Given the description of an element on the screen output the (x, y) to click on. 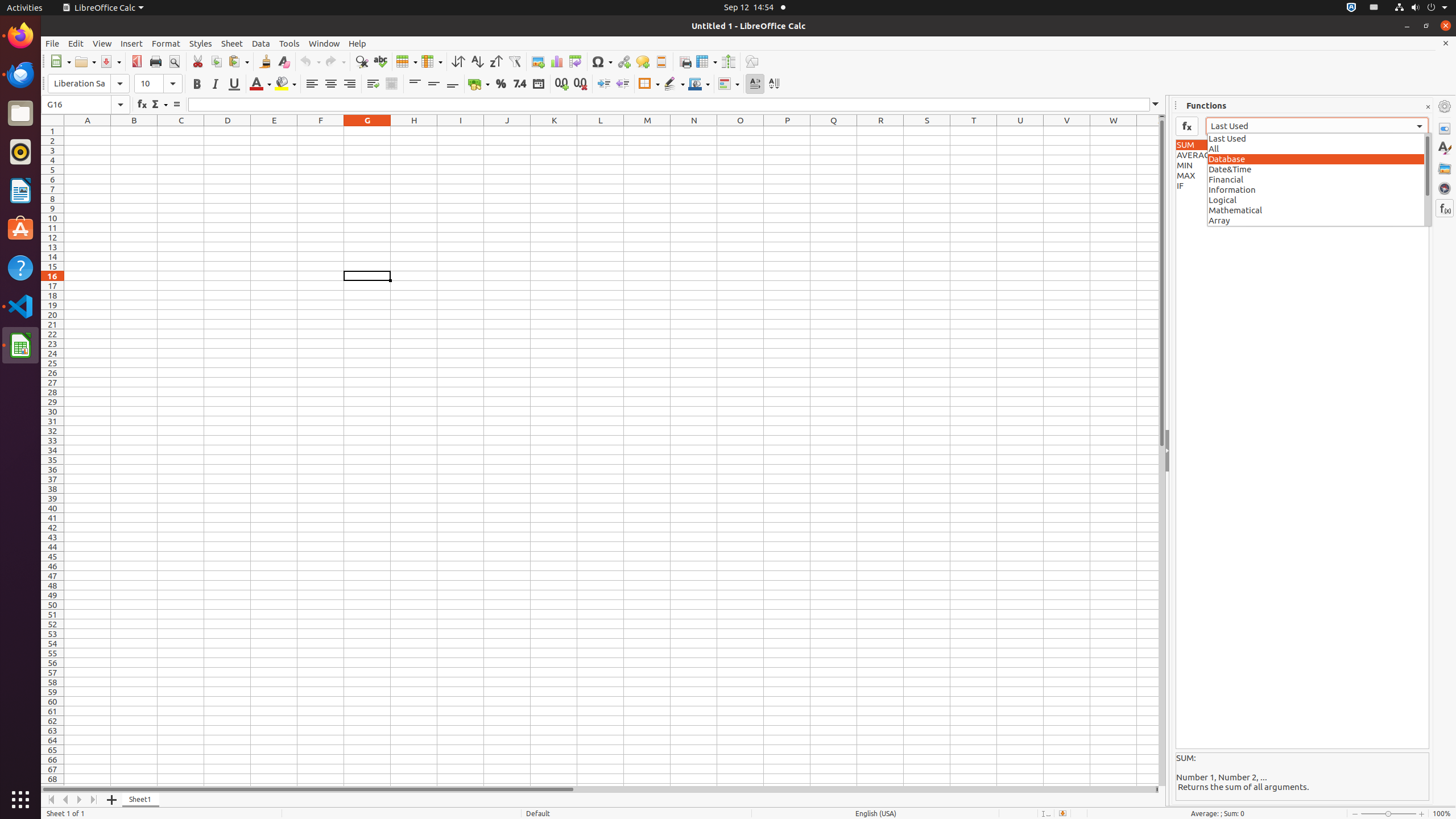
:1.21/StatusNotifierItem Element type: menu (1373, 7)
Move Left Element type: push-button (65, 799)
Background Color Element type: push-button (285, 83)
Tools Element type: menu (289, 43)
Navigator Element type: radio-button (1444, 188)
